Given the description of an element on the screen output the (x, y) to click on. 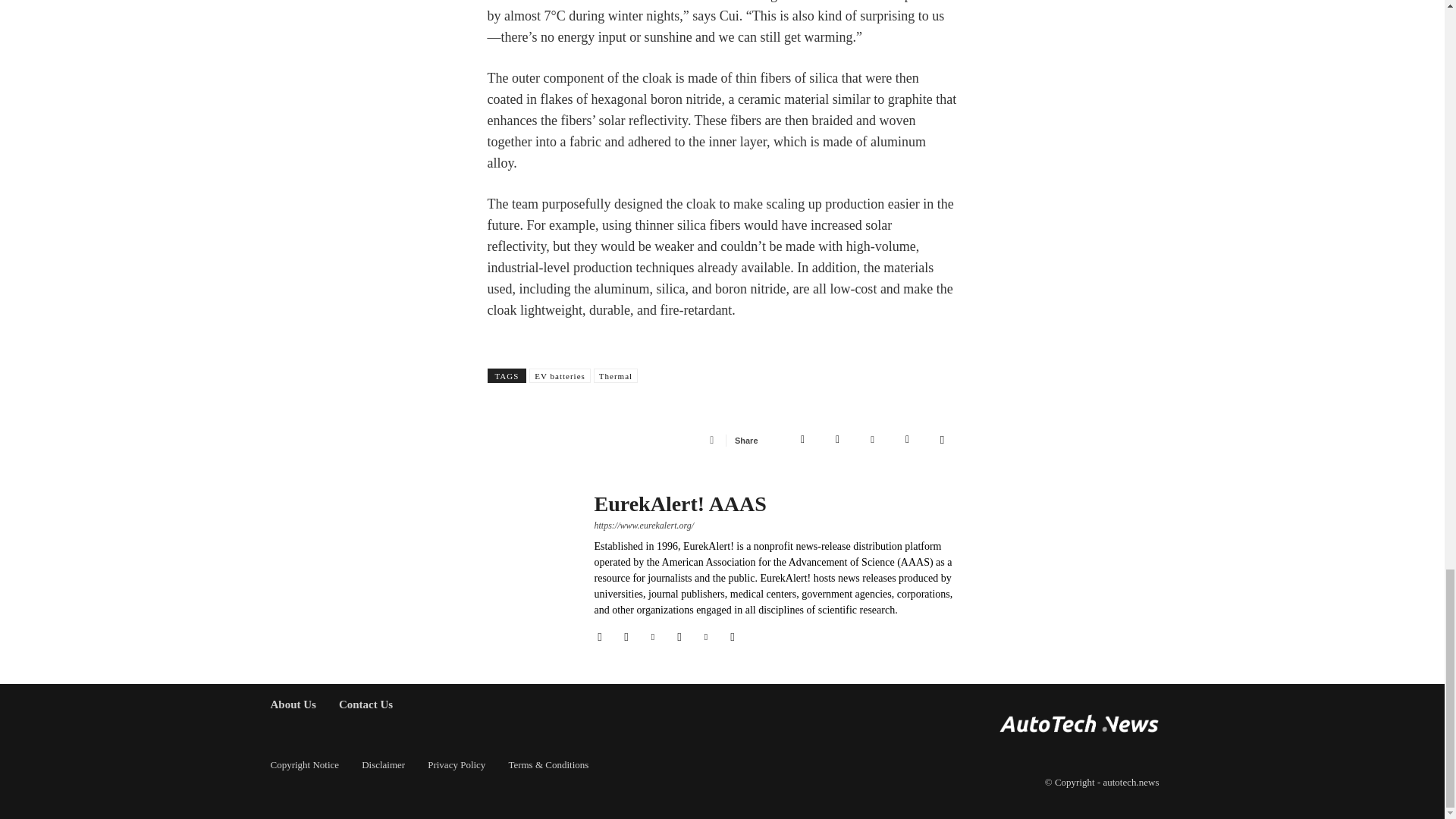
Pinterest (871, 440)
Facebook (801, 440)
Twitter (836, 440)
